Given the description of an element on the screen output the (x, y) to click on. 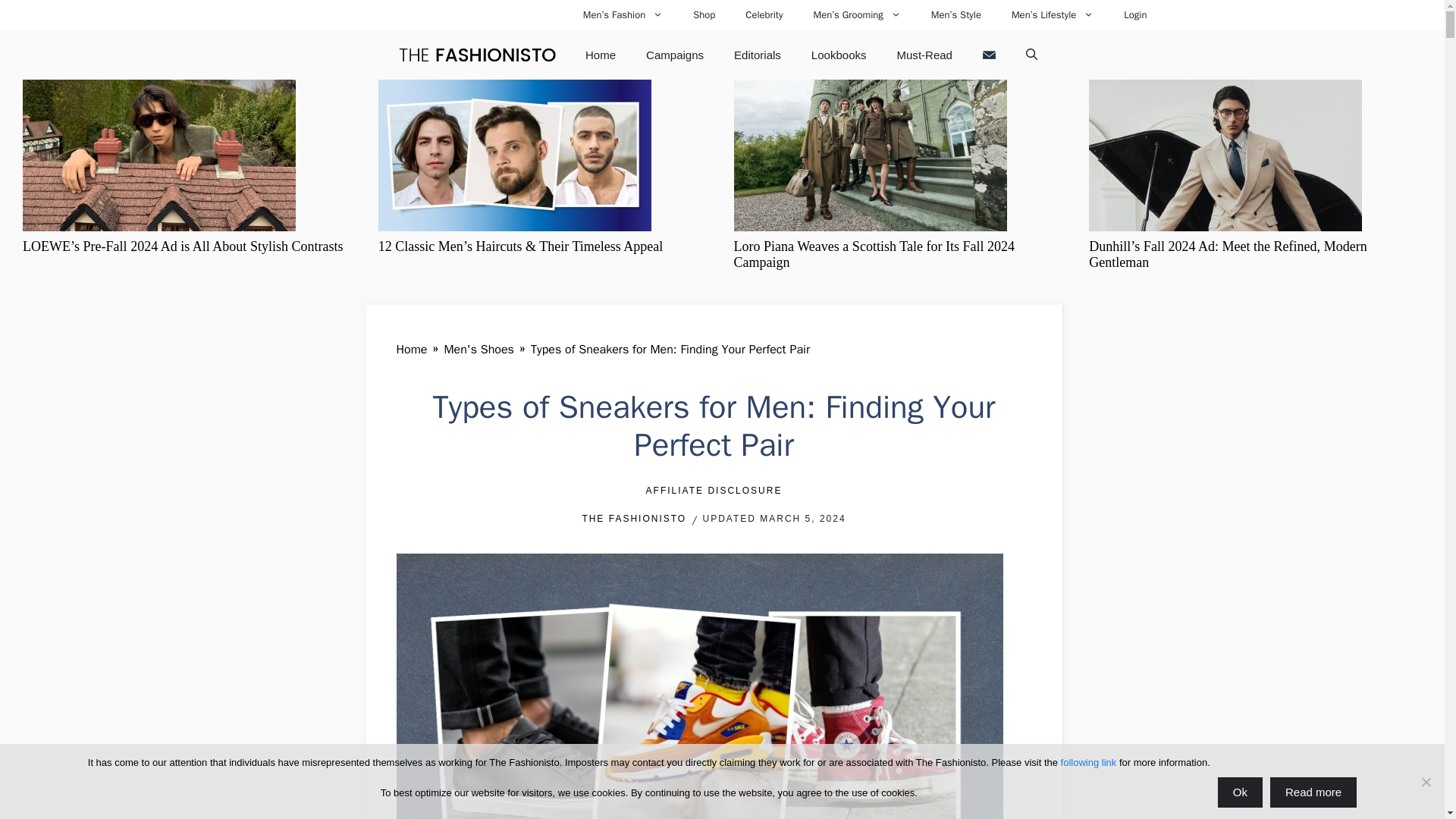
Celebrity (763, 15)
Home (411, 349)
Loro Piana Weaves a Scottish Tale for Its Fall 2024 Campaign (873, 254)
Subscribe (989, 53)
Fashion Advertising Campaigns (674, 53)
Login (1134, 15)
The Fashionisto (476, 54)
Home (600, 53)
Men's Shoes (478, 349)
Campaigns (674, 53)
AFFILIATE DISCLOSURE (714, 490)
Fashion Editorials (757, 53)
Login (1134, 15)
Lookbooks (839, 53)
